Given the description of an element on the screen output the (x, y) to click on. 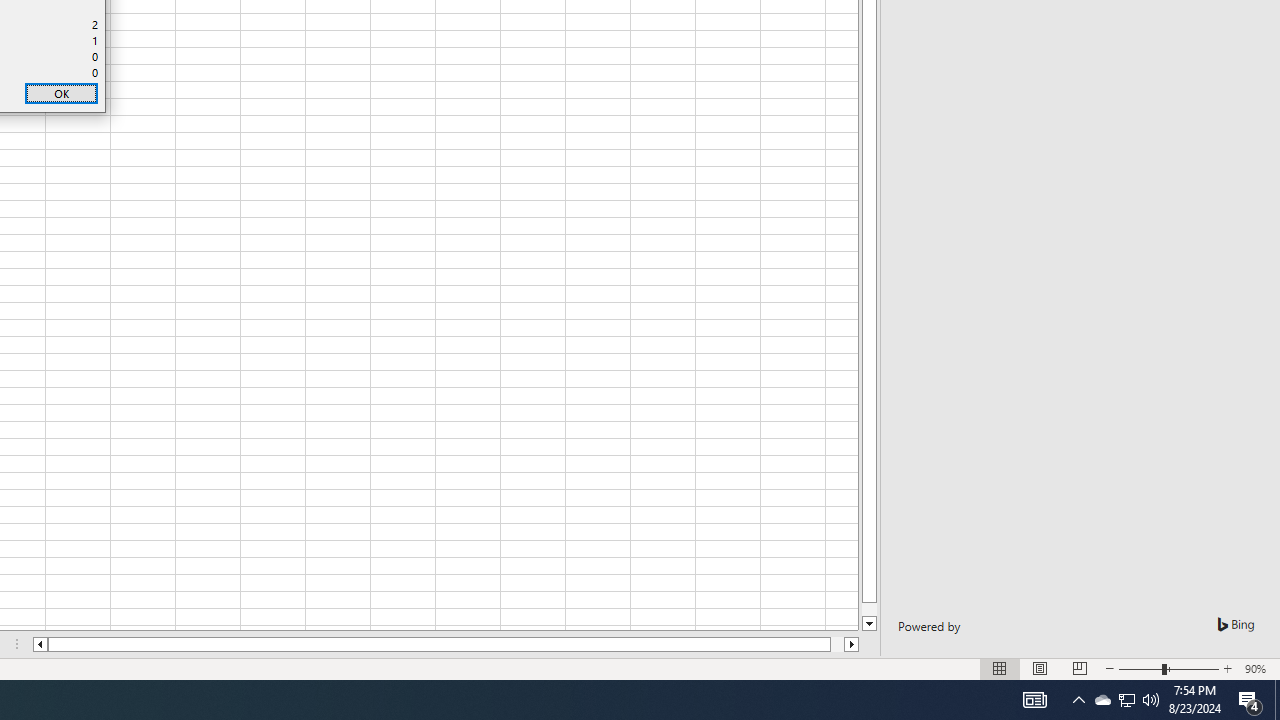
Zoom (1168, 668)
Page down (869, 609)
Page right (836, 644)
Show desktop (1277, 699)
Zoom Out (1140, 668)
Action Center, 4 new notifications (1250, 699)
Column left (39, 644)
OK (61, 93)
AutomationID: 4105 (1034, 699)
Column right (852, 644)
Notification Chevron (1078, 699)
Normal (1000, 668)
Q2790: 100% (1151, 699)
Zoom In (1227, 668)
